Given the description of an element on the screen output the (x, y) to click on. 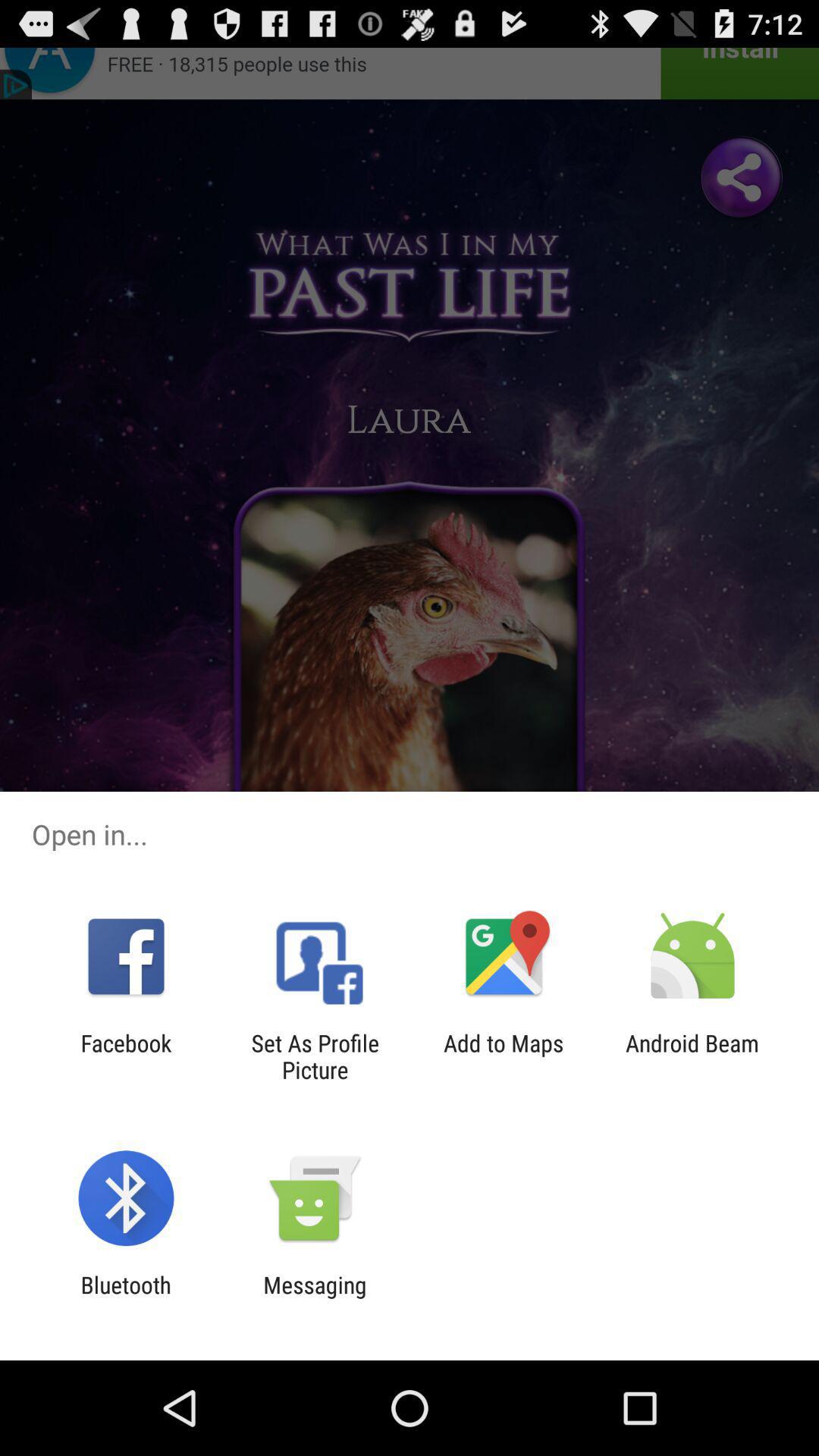
select the bluetooth item (125, 1298)
